Given the description of an element on the screen output the (x, y) to click on. 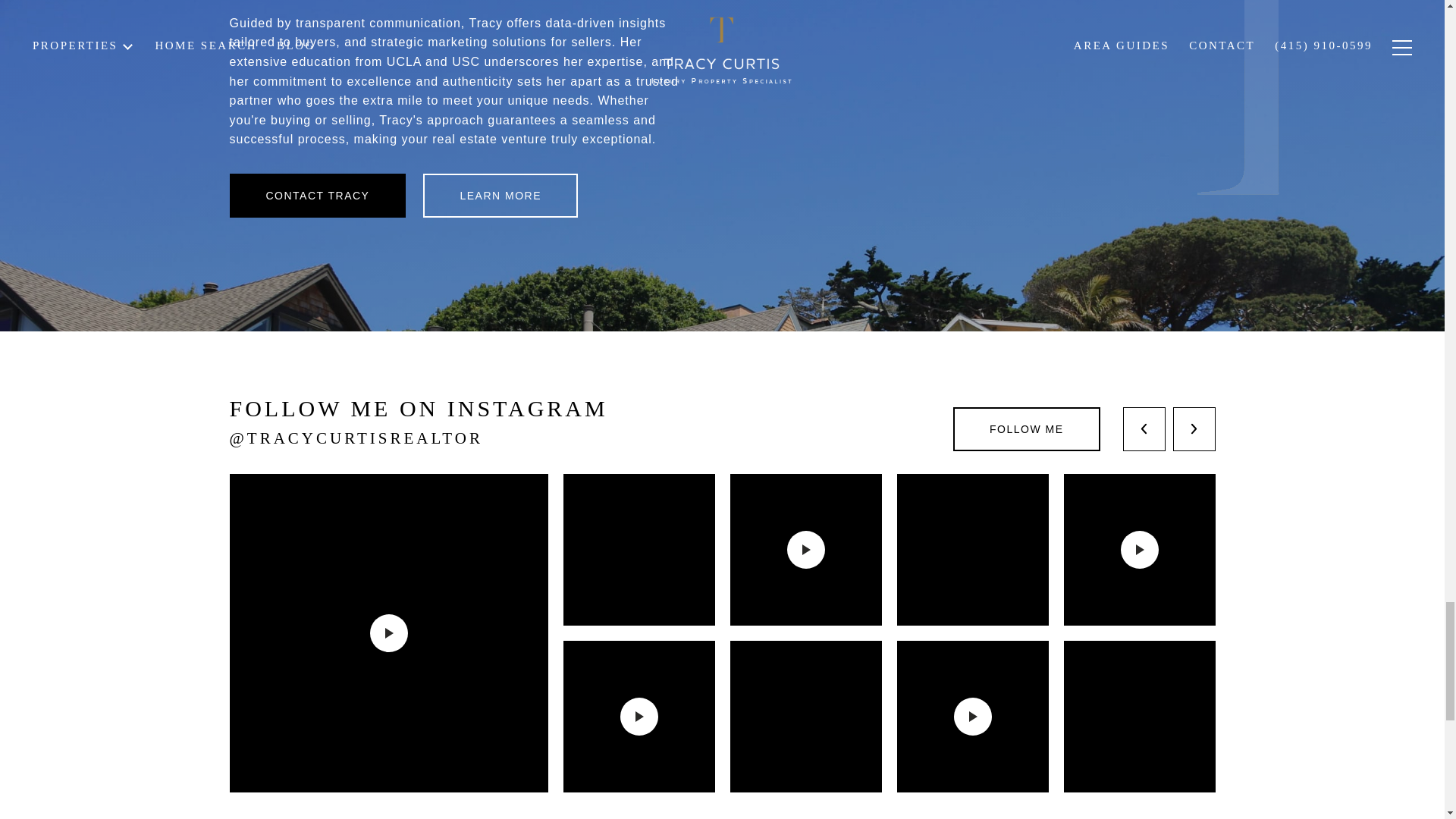
CONTACT TRACY (317, 195)
